Given the description of an element on the screen output the (x, y) to click on. 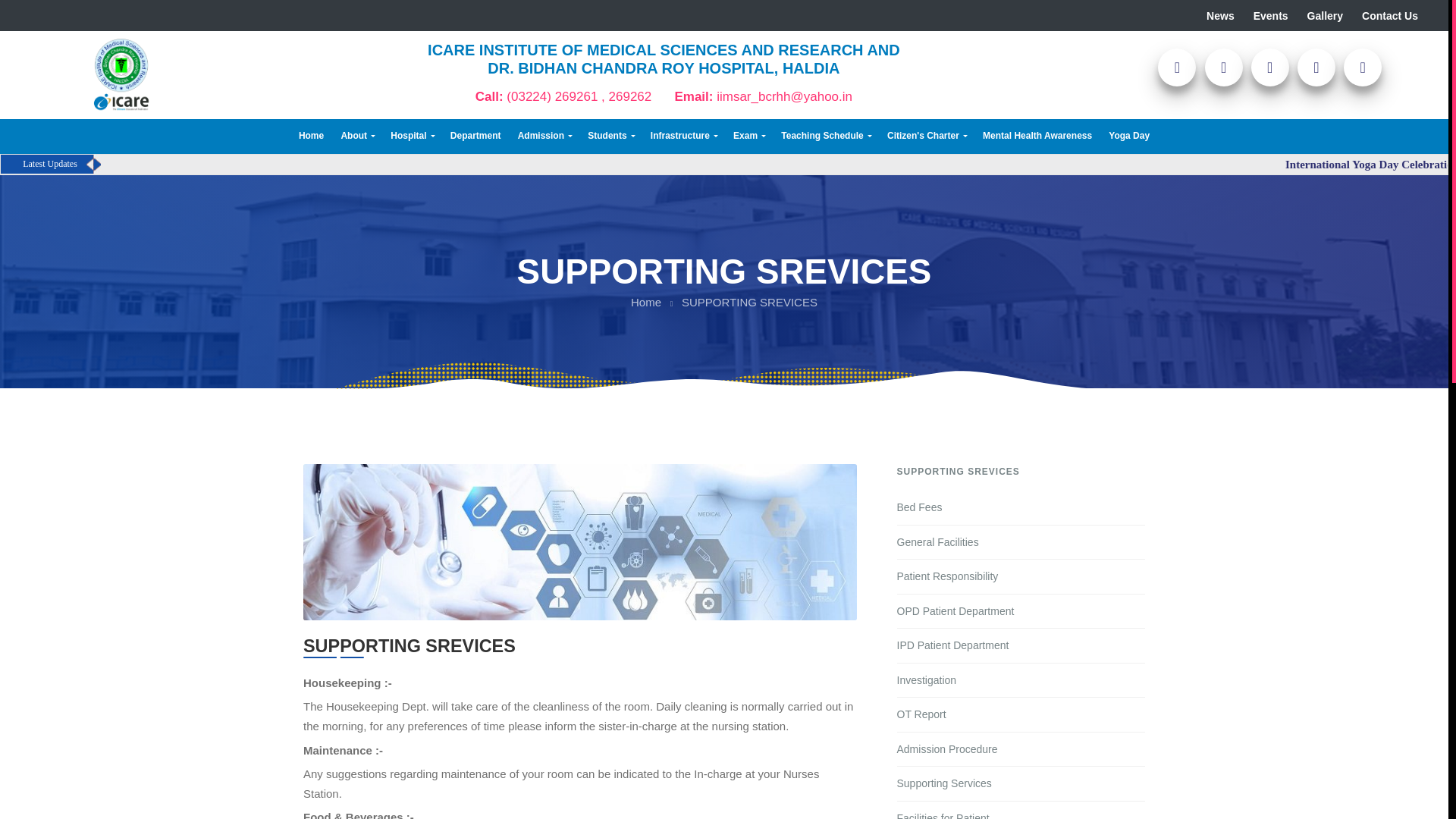
Events (1280, 15)
Gallery (1334, 15)
Hospital (411, 135)
Contact Us (1399, 15)
News (1230, 15)
About (356, 135)
Home (311, 135)
